Given the description of an element on the screen output the (x, y) to click on. 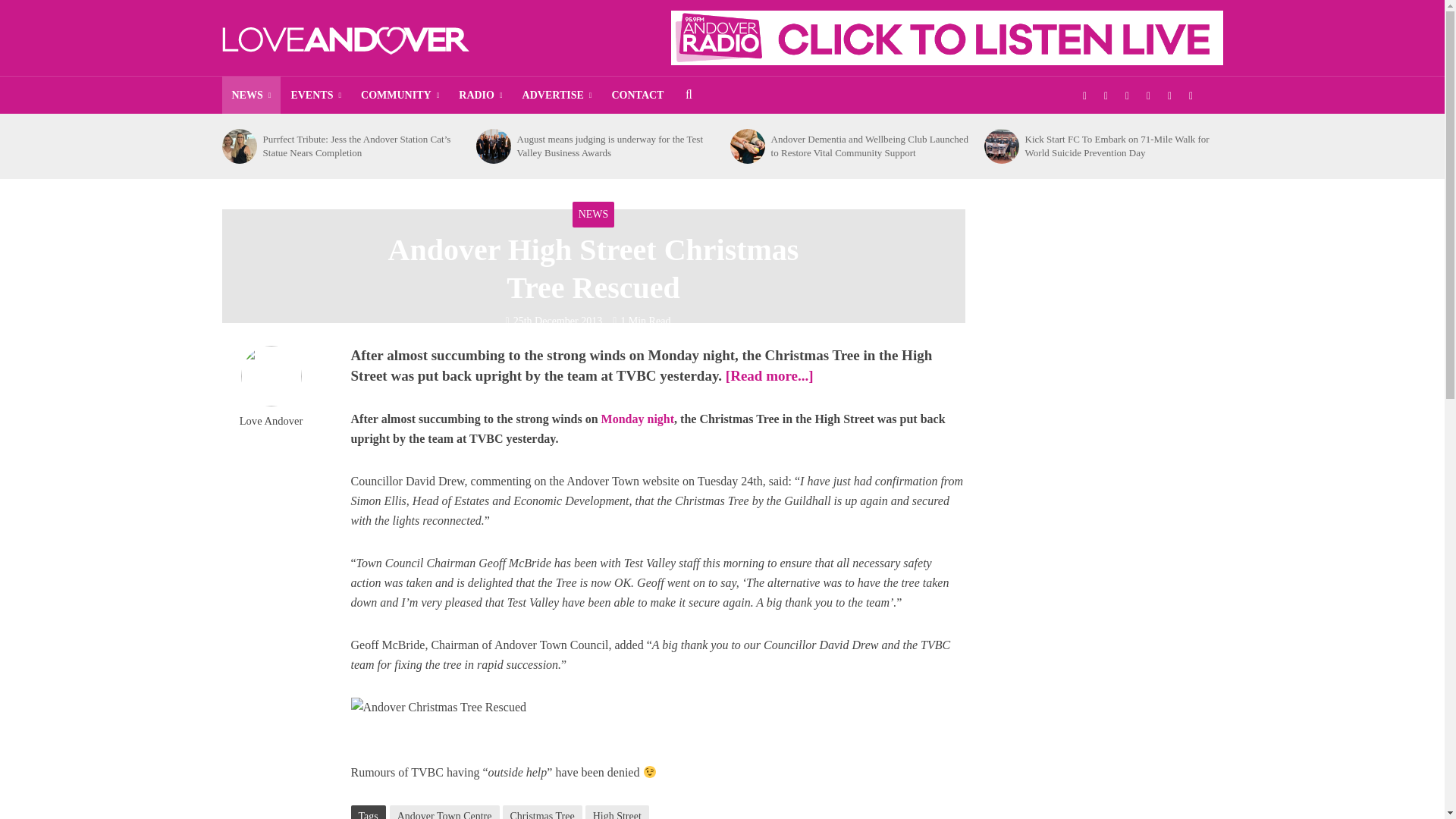
CONTACT (636, 95)
RADIO (480, 95)
NEWS (251, 95)
COMMUNITY (399, 95)
ADVERTISE (557, 95)
EVENTS (315, 95)
